Given the description of an element on the screen output the (x, y) to click on. 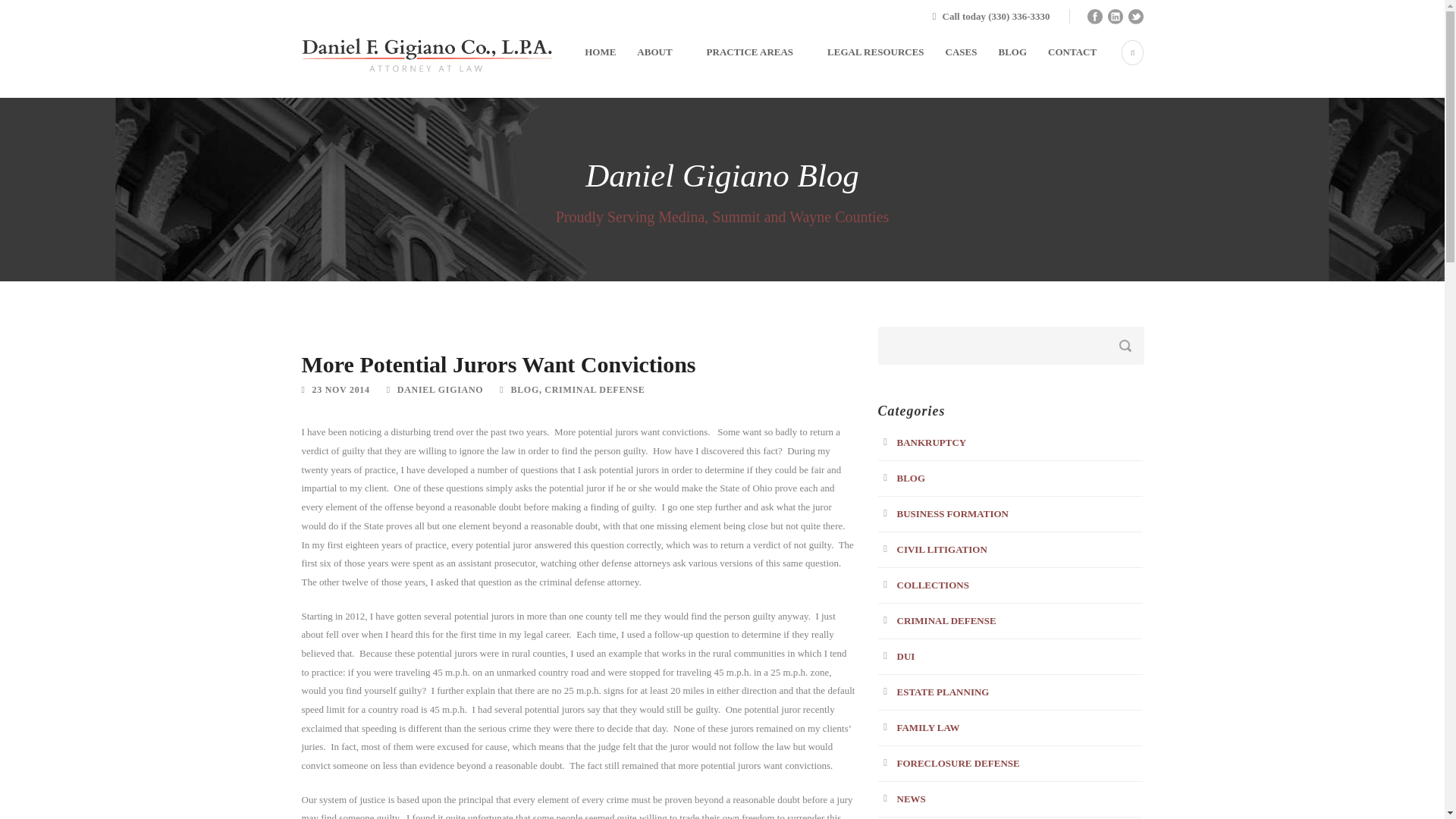
PRACTICE AREAS (745, 70)
ABOUT (649, 70)
Posts by Daniel Gigiano (440, 389)
